Given the description of an element on the screen output the (x, y) to click on. 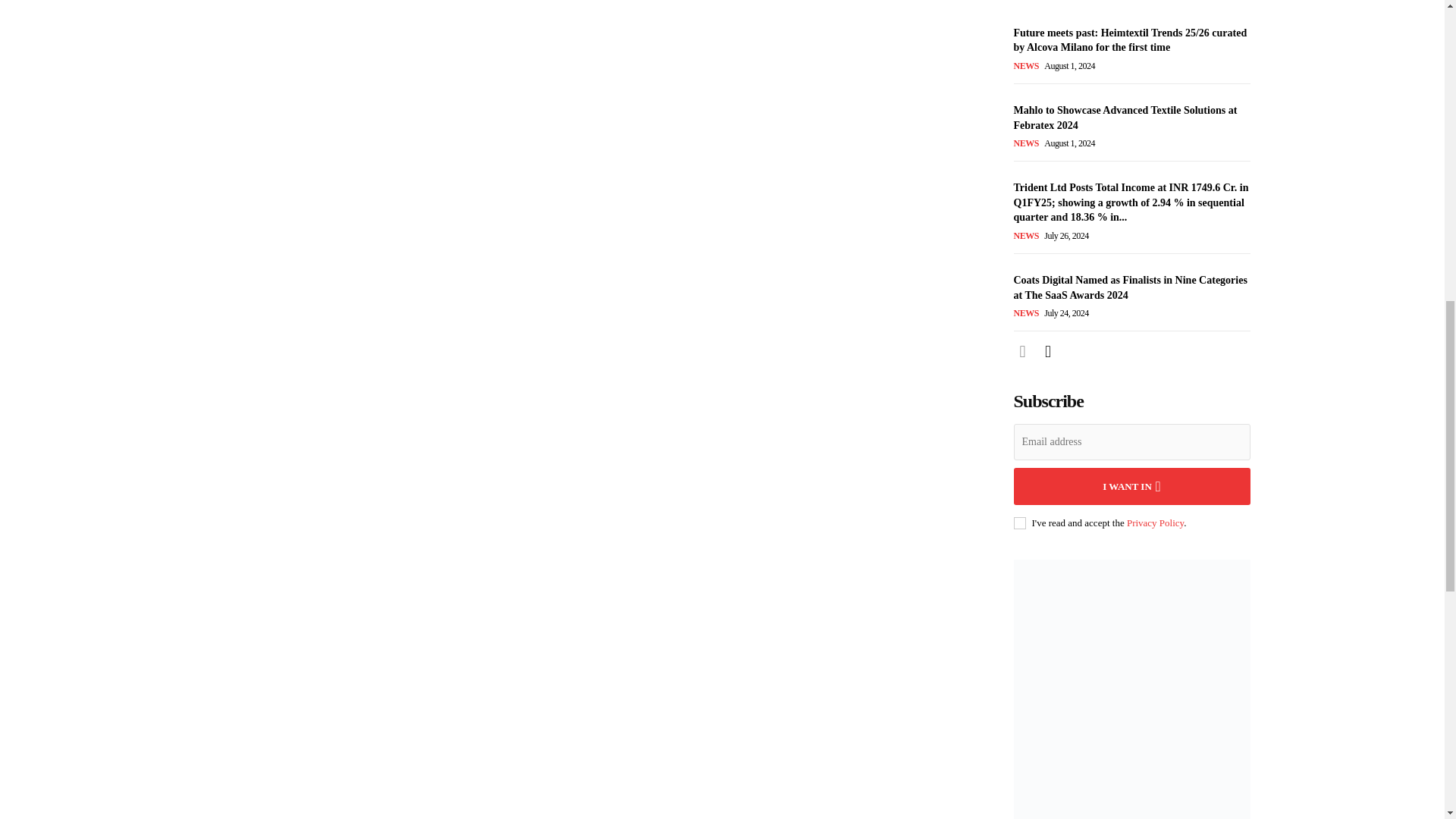
NEWS (1025, 65)
NEWS (1025, 235)
NEWS (1025, 143)
